Given the description of an element on the screen output the (x, y) to click on. 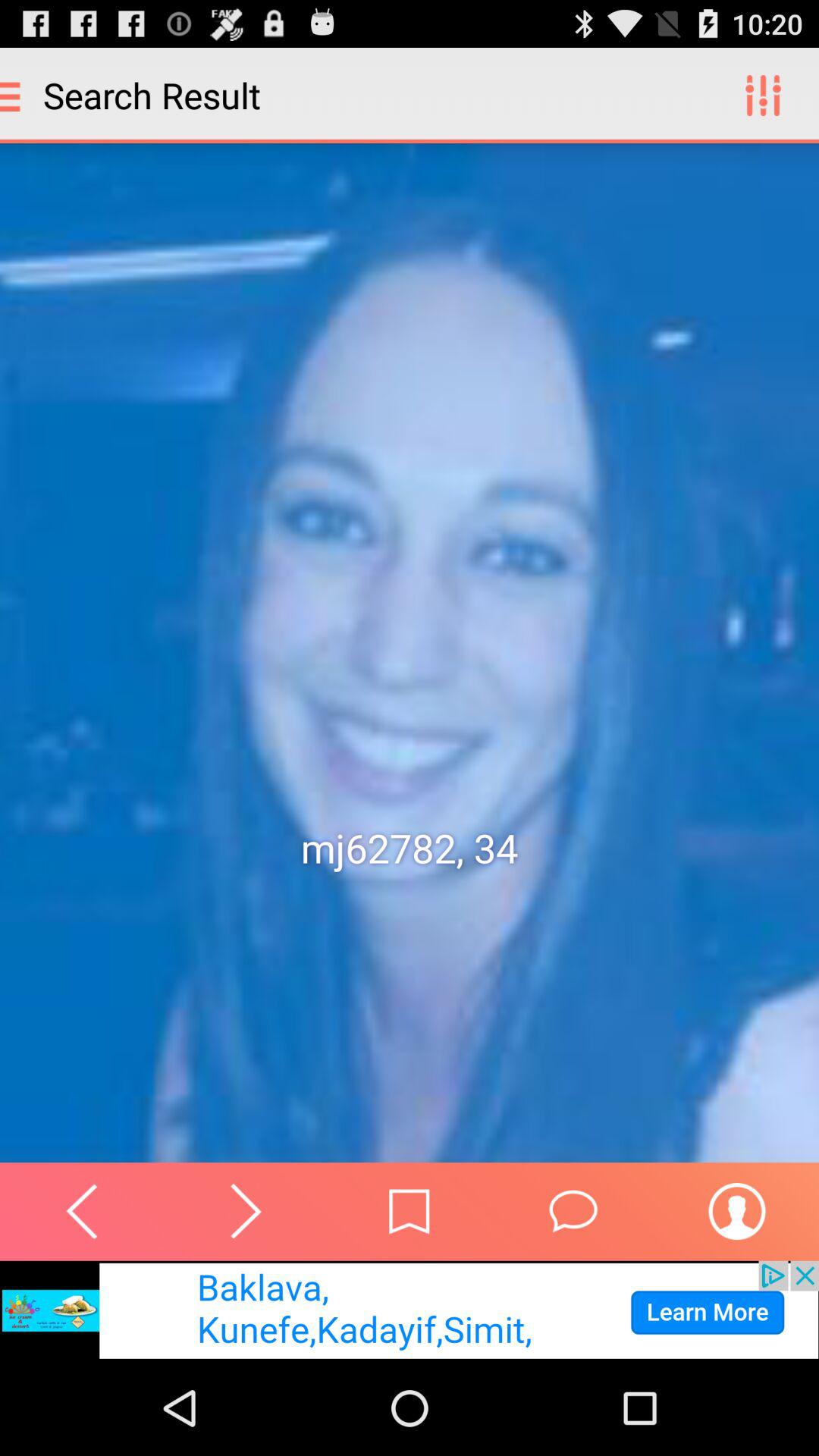
advance next (245, 1211)
